Given the description of an element on the screen output the (x, y) to click on. 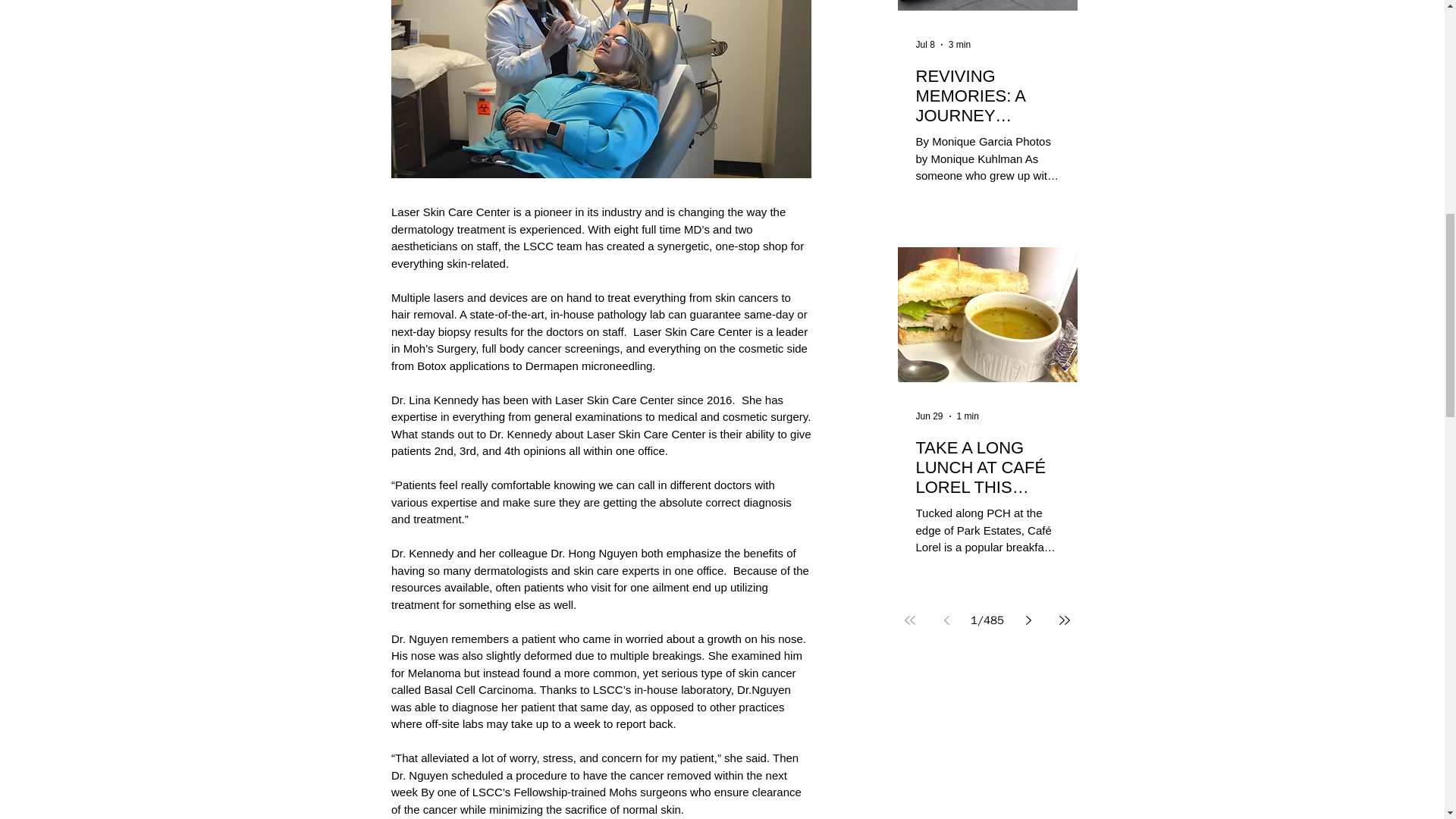
3 min (960, 44)
1 min (967, 416)
Jul 8 (924, 44)
Jun 29 (929, 416)
REVIVING MEMORIES: A JOURNEY THROUGH CAR CULTURE (987, 96)
